Given the description of an element on the screen output the (x, y) to click on. 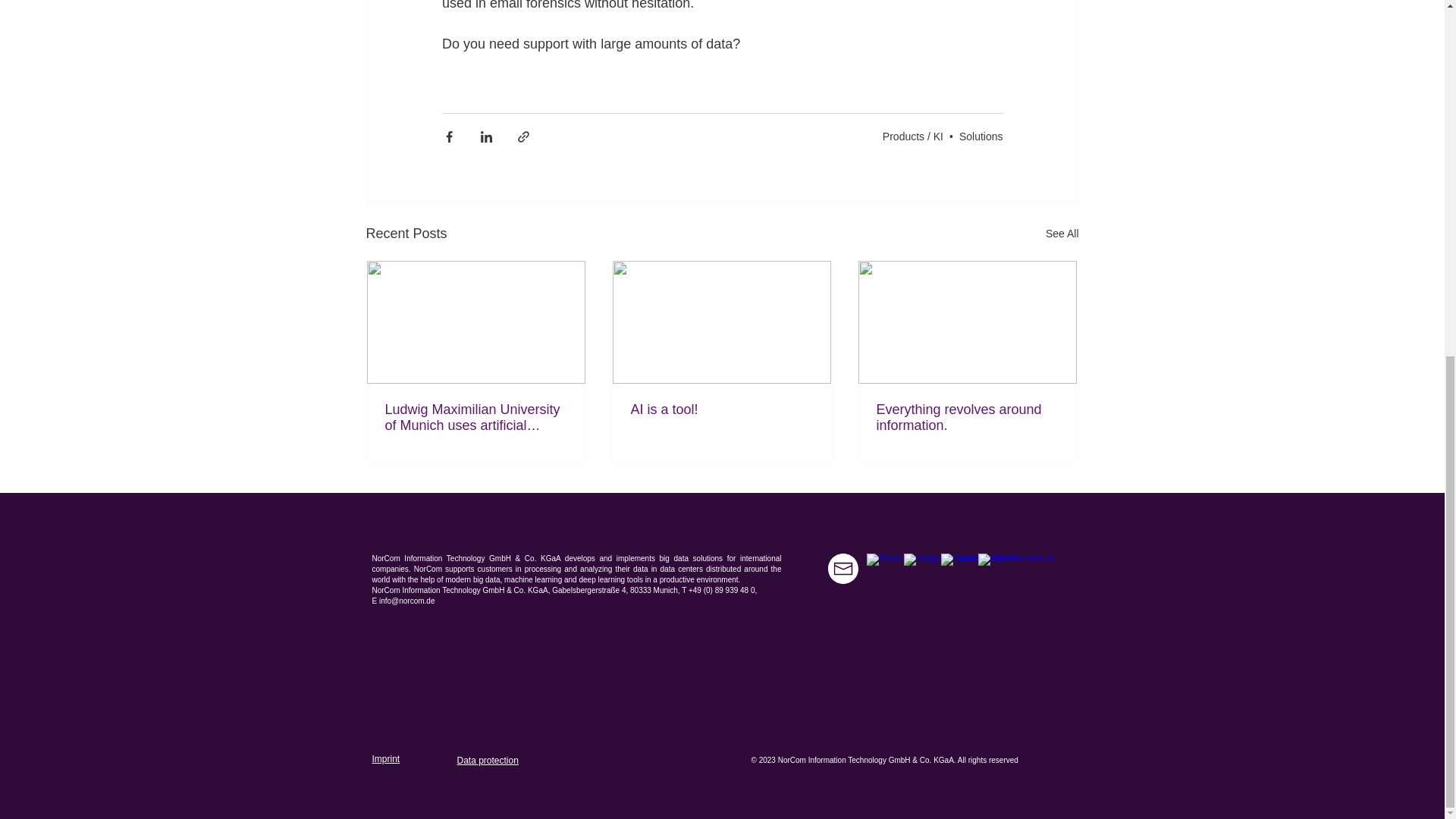
Everything revolves around information. (967, 418)
See All (1061, 233)
Solutions (981, 135)
AI is a tool! (721, 409)
